Given the description of an element on the screen output the (x, y) to click on. 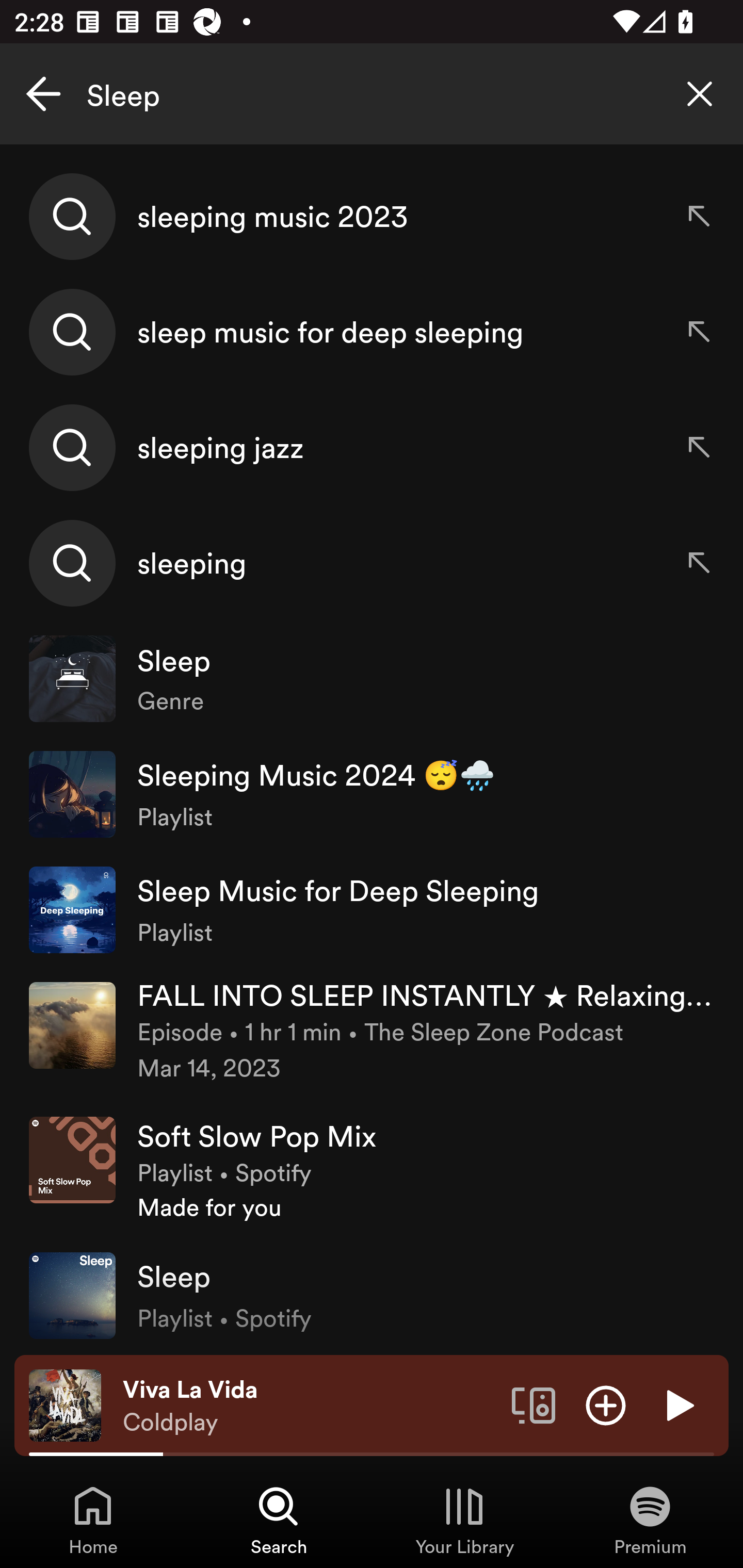
Sleep (371, 93)
Cancel (43, 93)
Clear search query (699, 93)
sleeping music 2023 (371, 216)
sleep music for deep sleeping (371, 332)
sleeping jazz (371, 447)
sleeping (371, 562)
Sleep Genre (371, 678)
Sleeping Music 2024 😴🌧️ Playlist (371, 793)
Sleep Music for Deep Sleeping Playlist (371, 909)
Soft Slow Pop Mix Playlist • Spotify Made for you (371, 1169)
Sleep Playlist • Spotify (371, 1295)
Viva La Vida Coldplay (309, 1405)
The cover art of the currently playing track (64, 1404)
Connect to a device. Opens the devices menu (533, 1404)
Add item (605, 1404)
Play (677, 1404)
Home, Tab 1 of 4 Home Home (92, 1519)
Search, Tab 2 of 4 Search Search (278, 1519)
Your Library, Tab 3 of 4 Your Library Your Library (464, 1519)
Premium, Tab 4 of 4 Premium Premium (650, 1519)
